Given the description of an element on the screen output the (x, y) to click on. 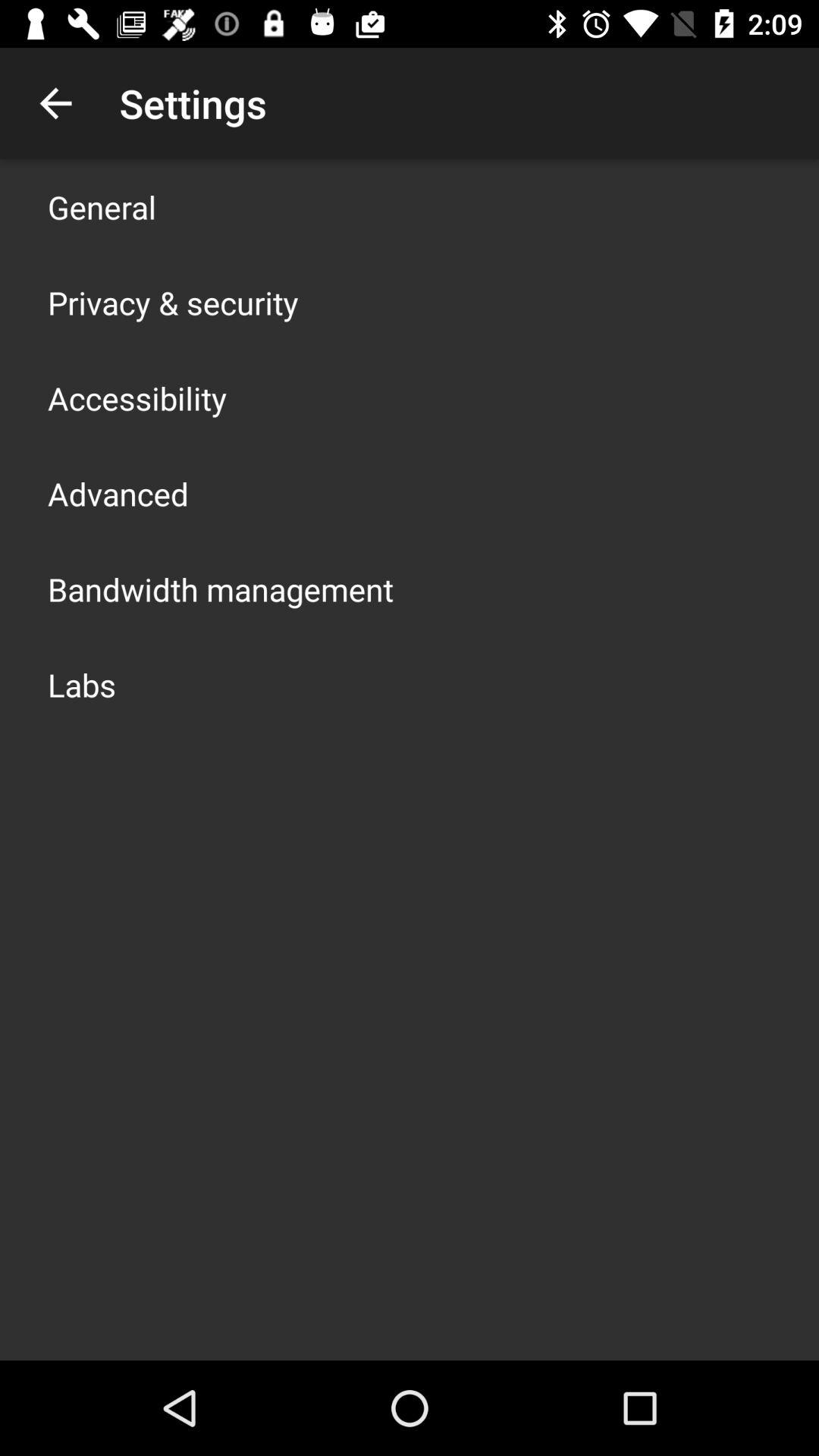
select the accessibility item (136, 397)
